Given the description of an element on the screen output the (x, y) to click on. 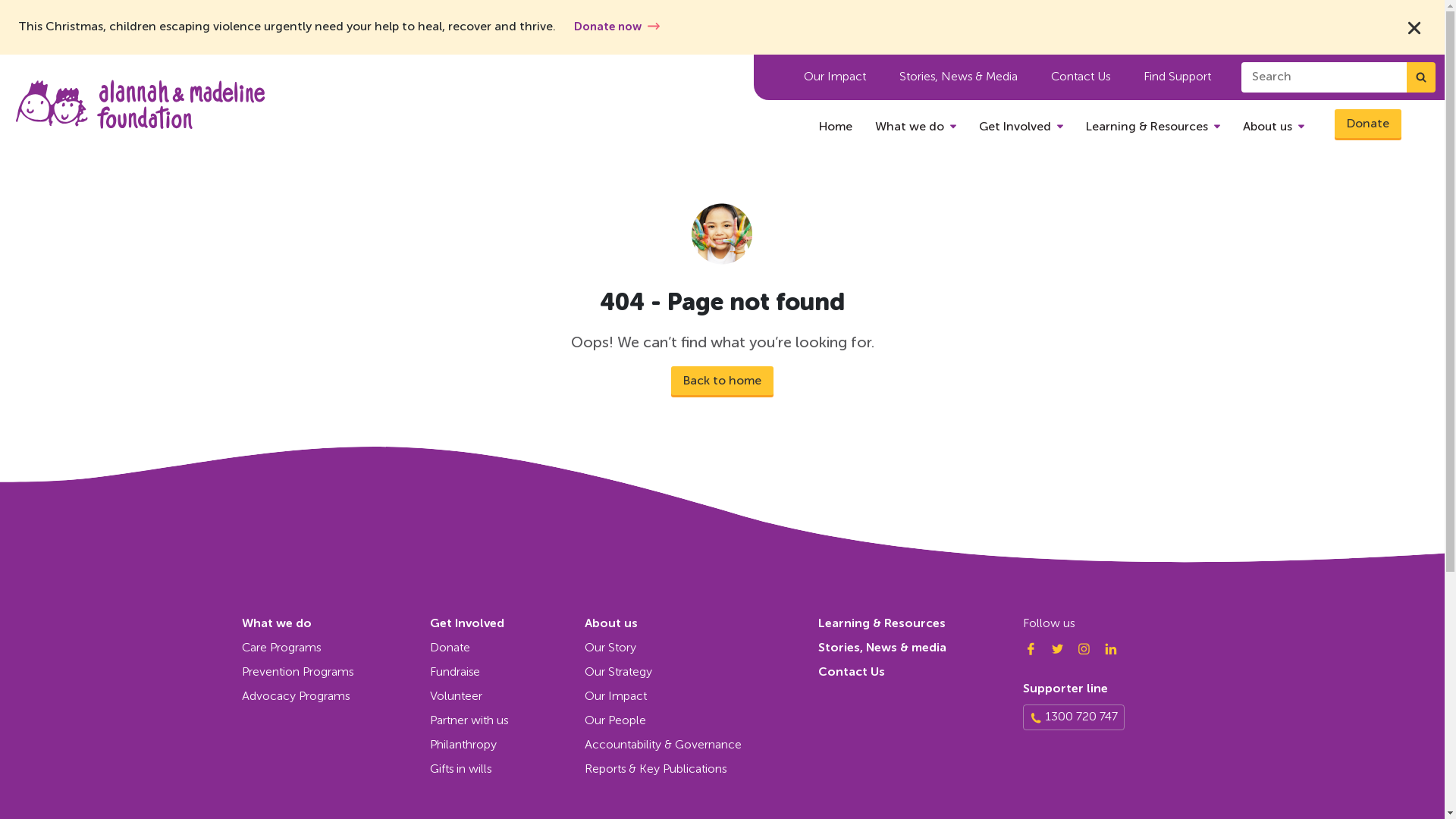
What we do Element type: text (915, 127)
Get Involved Element type: text (1021, 127)
Care Programs Element type: text (335, 648)
Stories, News & Media Element type: text (958, 77)
Stories, News & media Element type: text (882, 648)
About us Element type: text (610, 624)
1300 720 747 Element type: text (1081, 717)
Home Element type: text (835, 127)
Learning & Resources Element type: text (881, 624)
Back to home Element type: text (722, 380)
Our Impact Element type: text (701, 696)
Donate Element type: text (506, 648)
Fundraise Element type: text (506, 672)
Prevention Programs Element type: text (335, 672)
About us Element type: text (1273, 127)
Partner with us Element type: text (506, 721)
Find Support Element type: text (1177, 77)
Gifts in wills Element type: text (506, 769)
Alannah & Madeline Foundation logo Element type: text (140, 104)
Learning & Resources Element type: text (1152, 127)
Donate Element type: text (1367, 123)
Our Impact Element type: text (834, 77)
Volunteer Element type: text (506, 696)
Our People Element type: text (701, 721)
Our Story Element type: text (701, 648)
Our Strategy Element type: text (701, 672)
Reports & Key Publications Element type: text (701, 769)
What we do Element type: text (275, 624)
Philanthropy Element type: text (506, 745)
Contact Us Element type: text (851, 672)
Contact Us Element type: text (1080, 77)
Accountability & Governance Element type: text (701, 745)
Get Involved Element type: text (466, 624)
Search Element type: text (1420, 77)
Donate now Element type: text (616, 27)
Advocacy Programs Element type: text (335, 696)
